Given the description of an element on the screen output the (x, y) to click on. 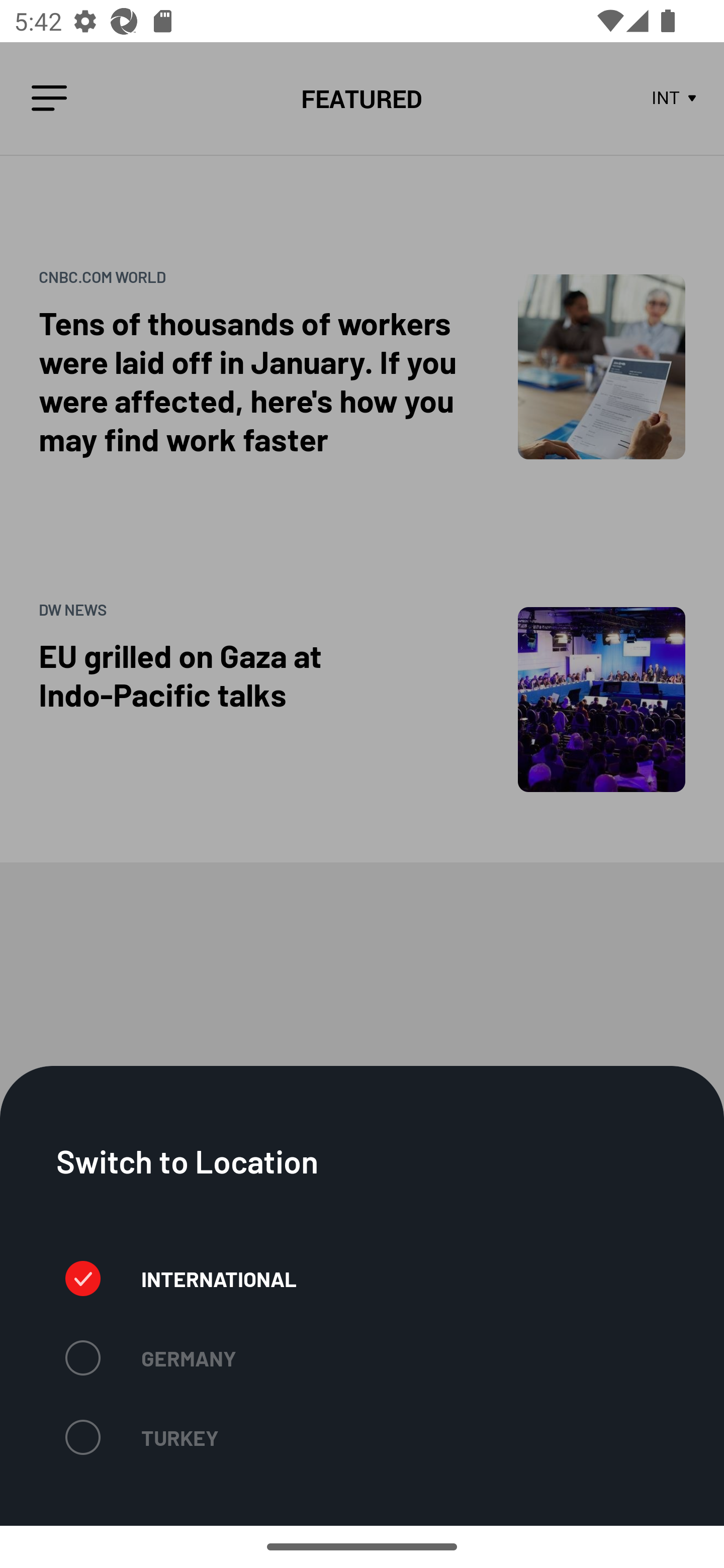
Selected News Style INTERNATIONAL (180, 1277)
GERMANY (150, 1357)
TURKEY (141, 1437)
